Given the description of an element on the screen output the (x, y) to click on. 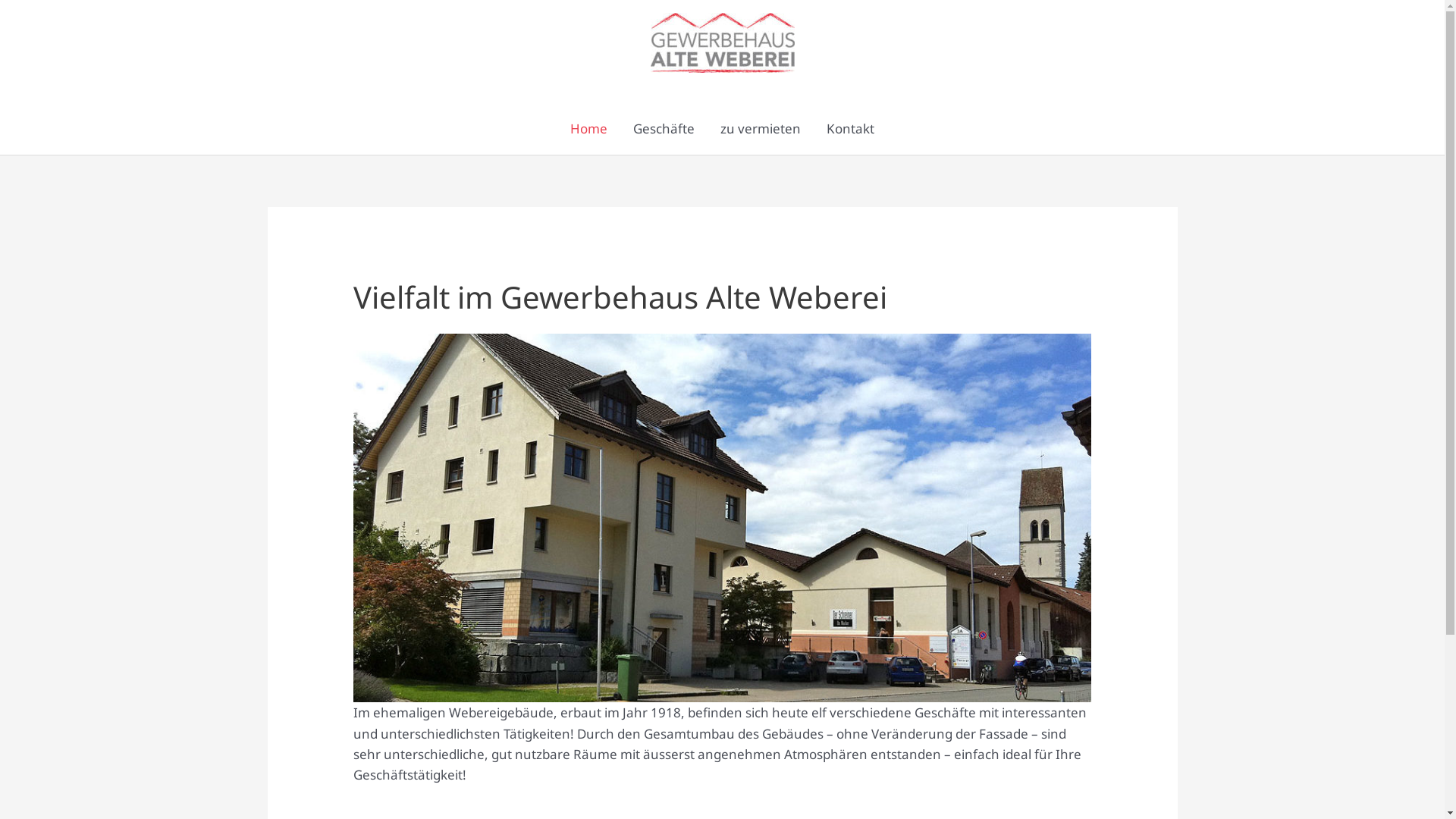
Home Element type: text (588, 128)
zu vermieten Element type: text (760, 128)
Kontakt Element type: text (850, 128)
